Given the description of an element on the screen output the (x, y) to click on. 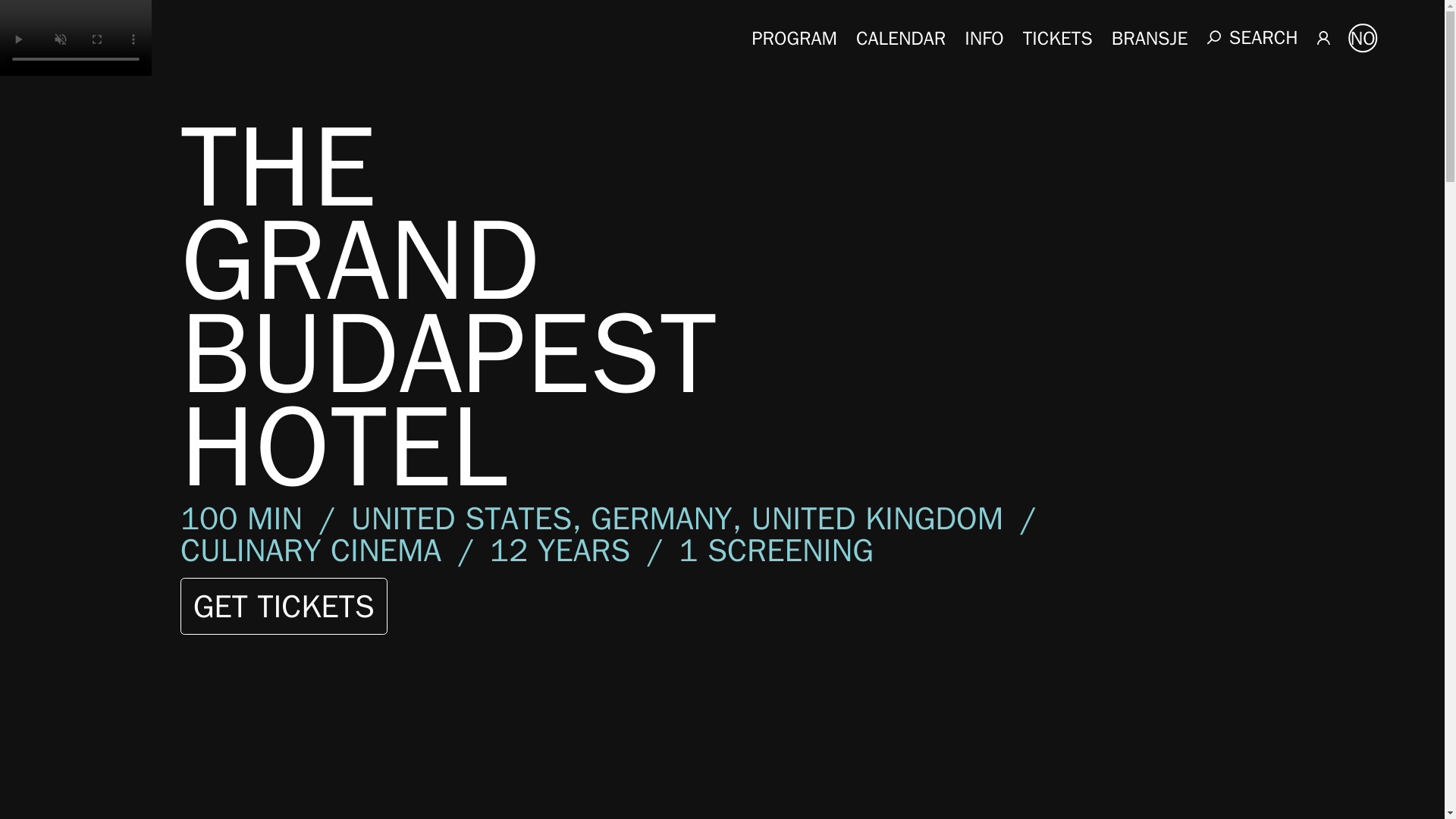
SEARCH (1252, 36)
INFO (983, 37)
CALENDAR (900, 37)
GET TICKETS (283, 606)
PROGRAM (794, 37)
TICKETS (1058, 37)
BRANSJE (1150, 37)
NO (1362, 37)
